Given the description of an element on the screen output the (x, y) to click on. 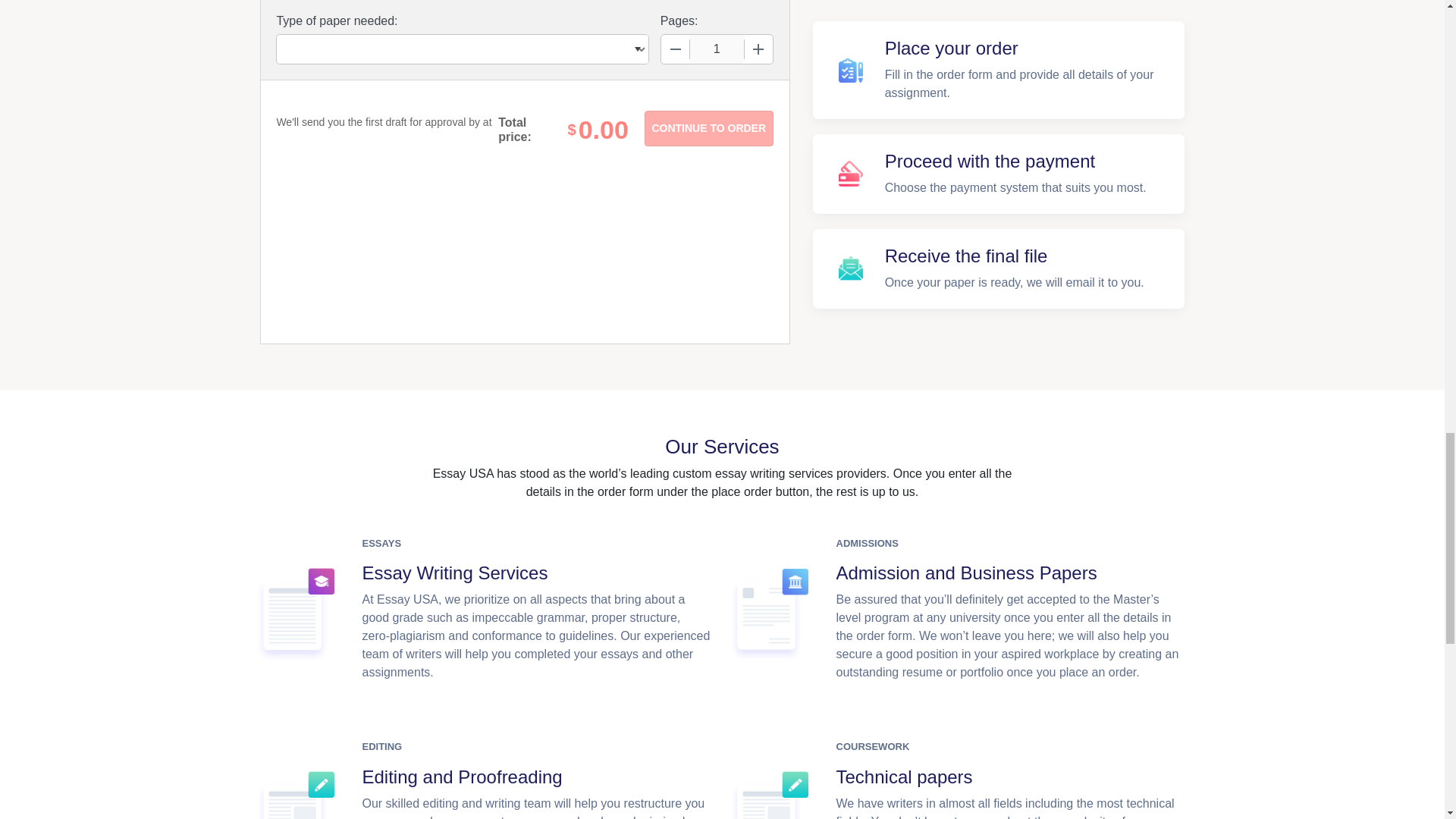
1 (717, 49)
Increase (758, 49)
Continue to order (709, 128)
Decrease (675, 49)
Continue to Order (709, 128)
Continue to order (709, 128)
